Given the description of an element on the screen output the (x, y) to click on. 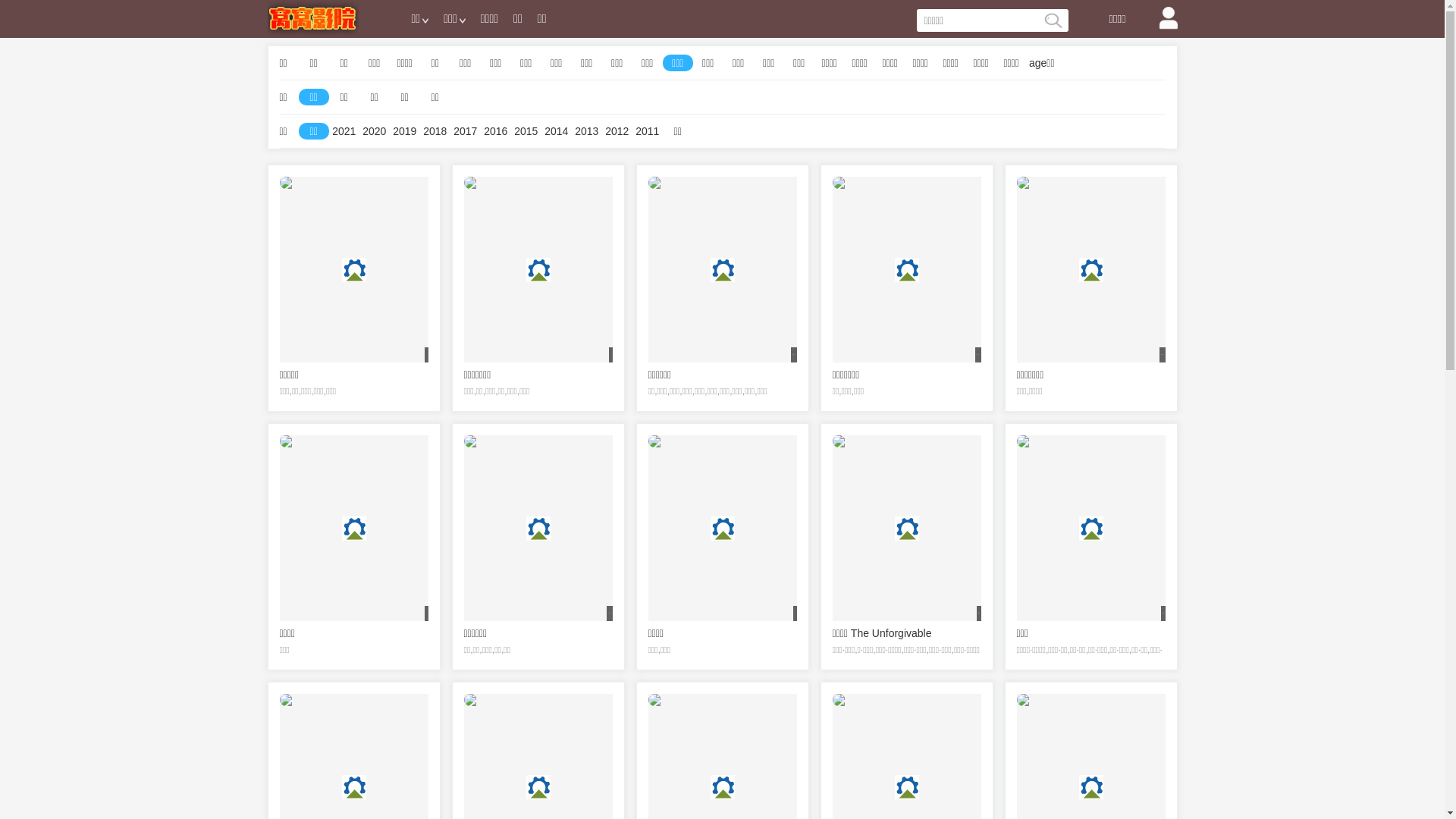
2019 Element type: text (404, 131)
2020 Element type: text (373, 131)
2014 Element type: text (555, 131)
2018 Element type: text (434, 131)
2013 Element type: text (586, 131)
2021 Element type: text (343, 131)
BD Element type: text (1090, 441)
HD Element type: text (906, 441)
2011 Element type: text (646, 131)
2017 Element type: text (464, 131)
2016 Element type: text (495, 131)
2012 Element type: text (616, 131)
2015 Element type: text (525, 131)
